Given the description of an element on the screen output the (x, y) to click on. 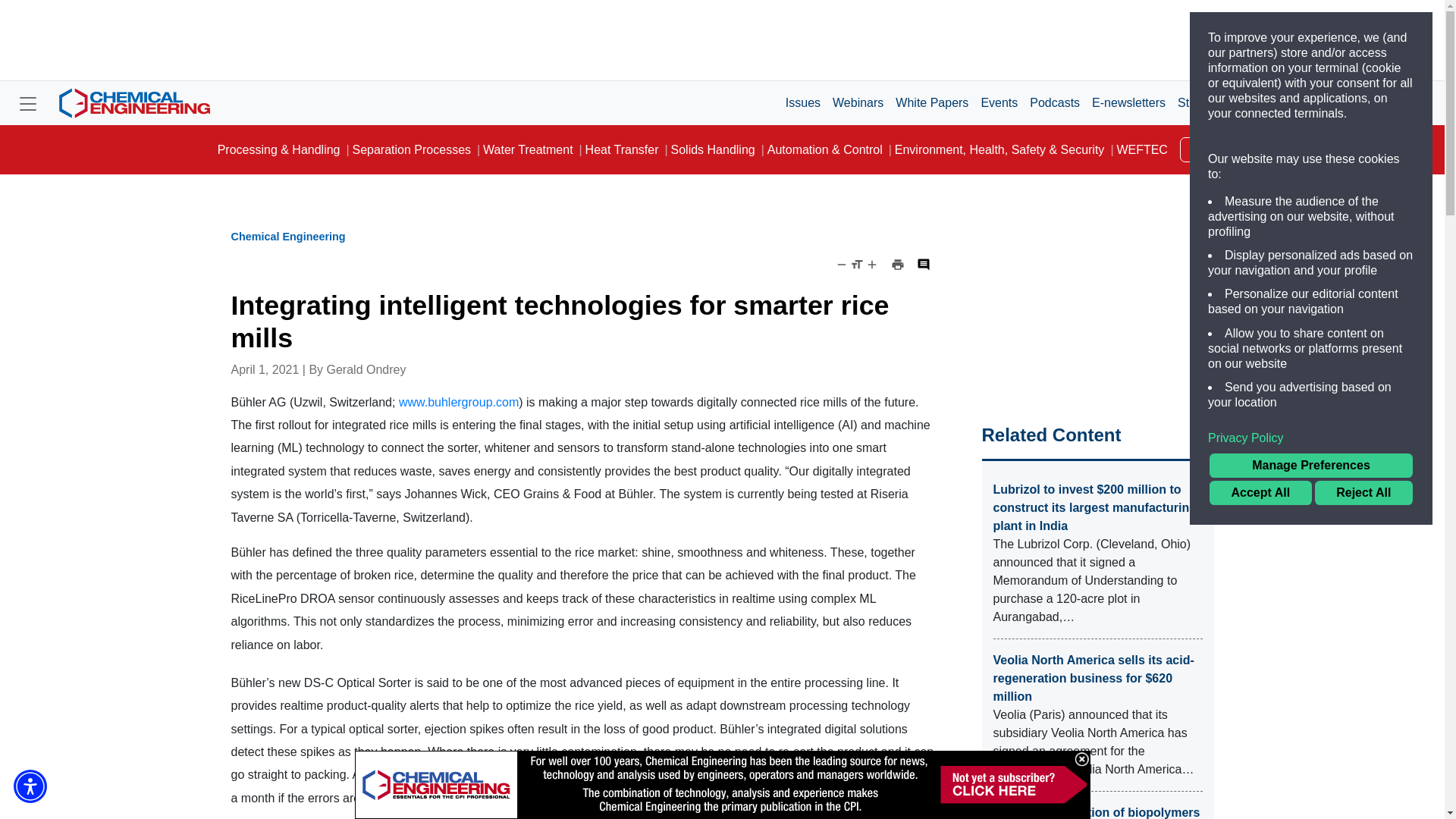
Accept All (1260, 492)
Solids Handling (713, 150)
Heat Transfer (622, 150)
Events (998, 102)
Manage Preferences (1310, 465)
Reject All (1363, 492)
Separation Processes (411, 150)
Webinars (858, 102)
Water Treatment (528, 150)
Accessibility Menu (29, 786)
Plant Cost Index (1262, 102)
White Papers (931, 102)
Privacy Policy (1310, 437)
WEFTEC (1141, 150)
Store (1192, 102)
